Given the description of an element on the screen output the (x, y) to click on. 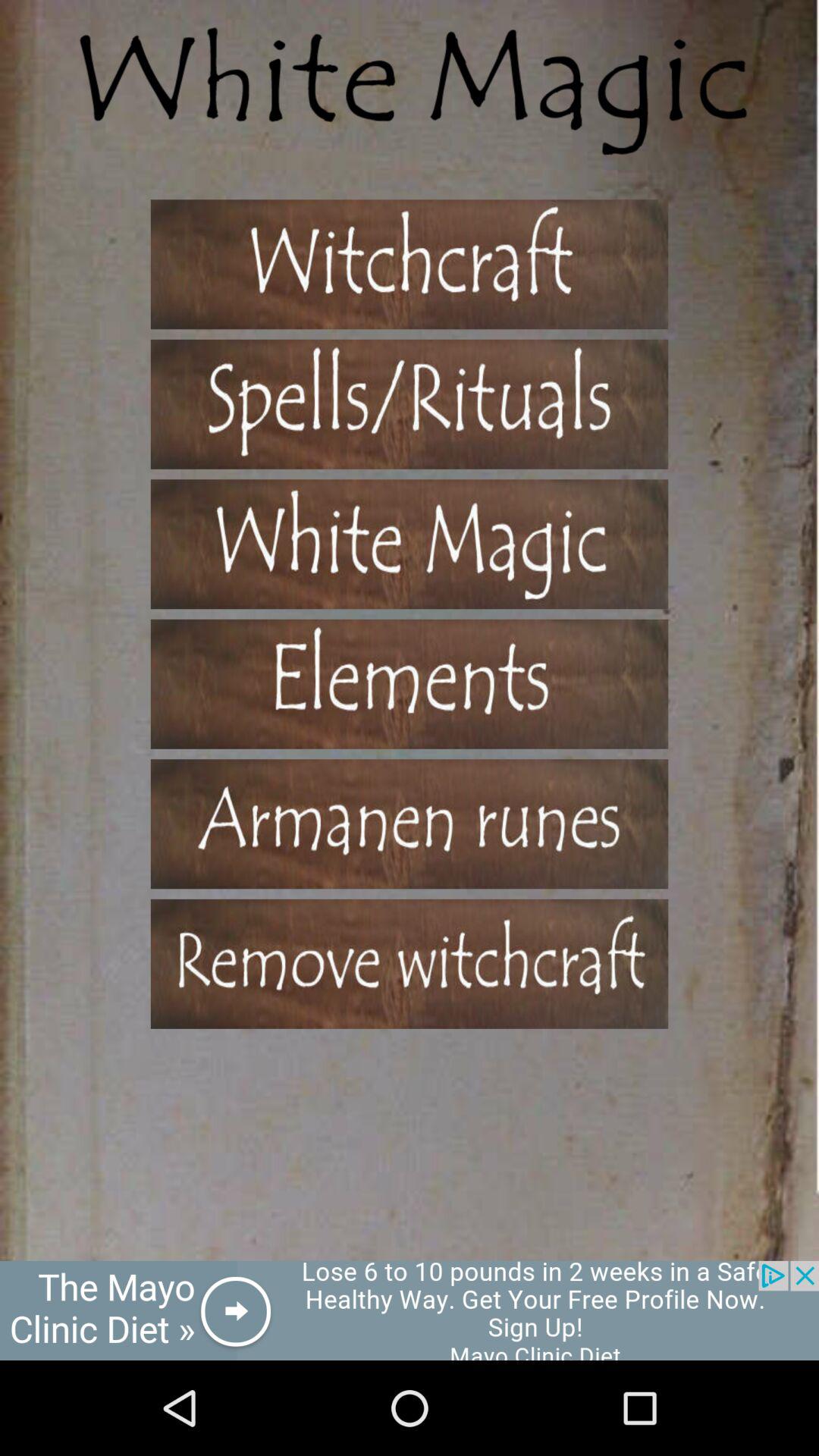
open advertisement (409, 1310)
